Given the description of an element on the screen output the (x, y) to click on. 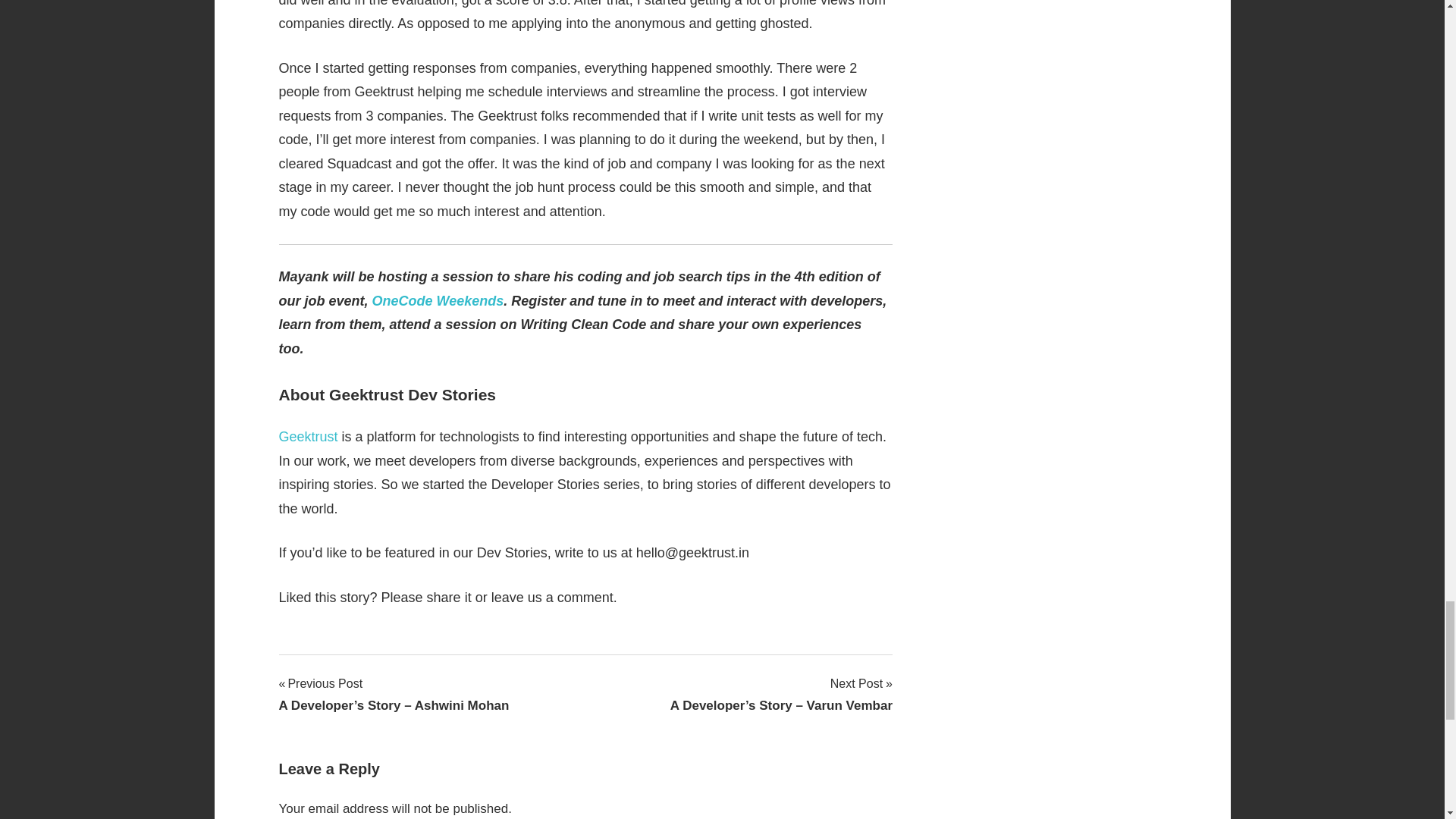
OneCode Weekends (437, 300)
Geektrust (308, 436)
